Given the description of an element on the screen output the (x, y) to click on. 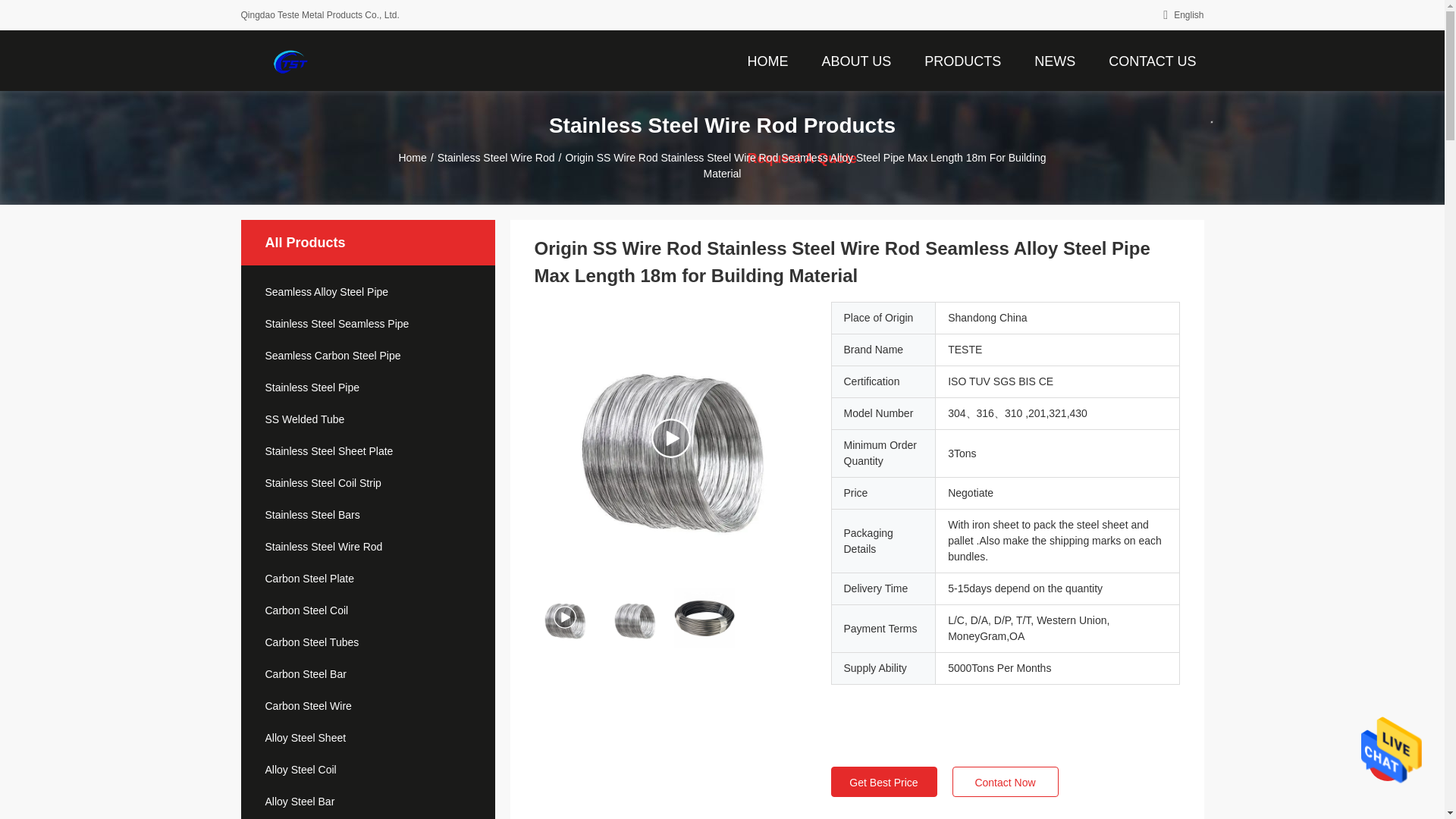
ABOUT US (855, 60)
PRODUCTS (962, 60)
HOME (767, 60)
